Given the description of an element on the screen output the (x, y) to click on. 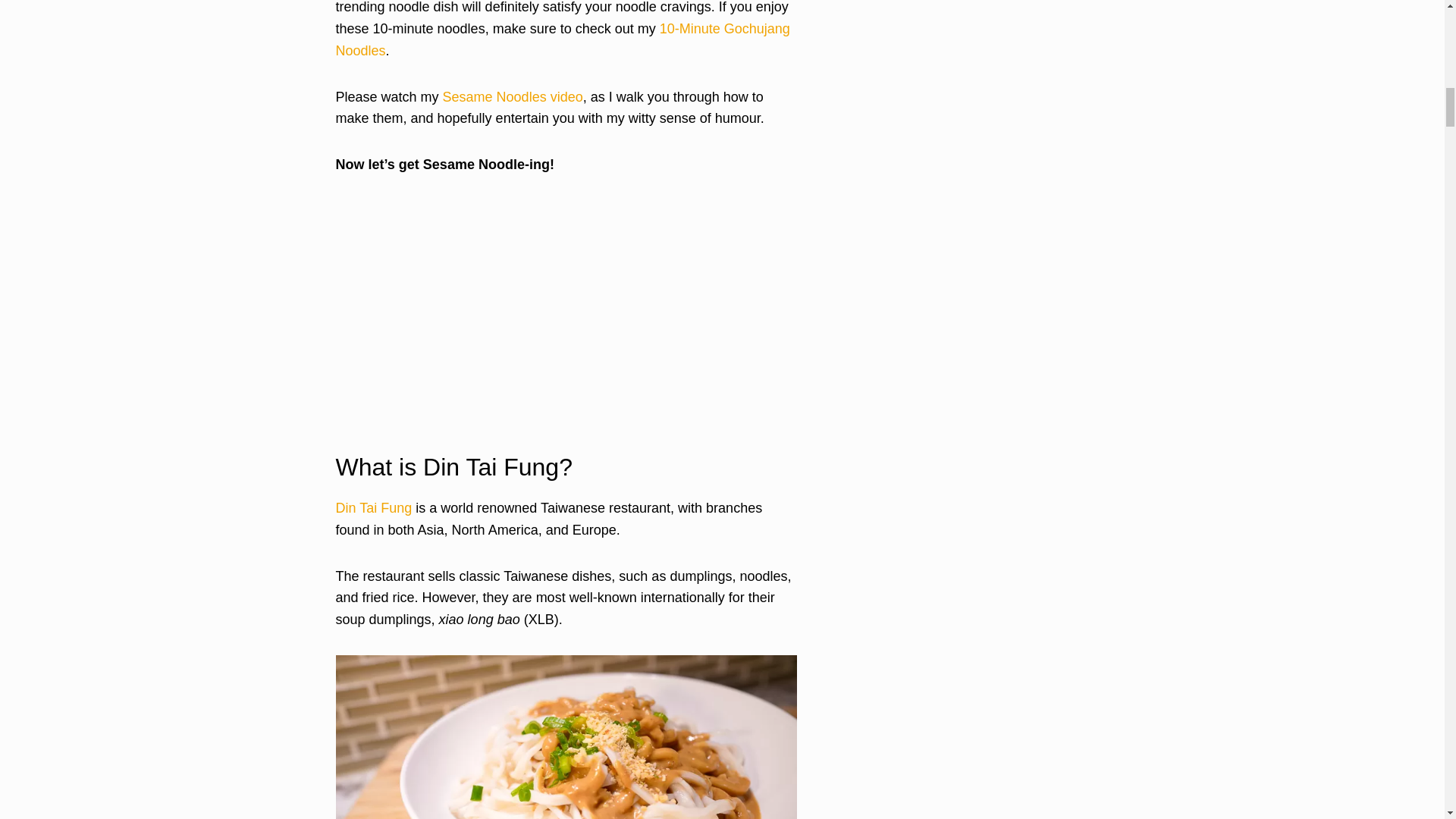
10-Minute Gochujang Noodles (561, 39)
Sesame Noodles video (512, 96)
Din Tai Fung (373, 507)
